Given the description of an element on the screen output the (x, y) to click on. 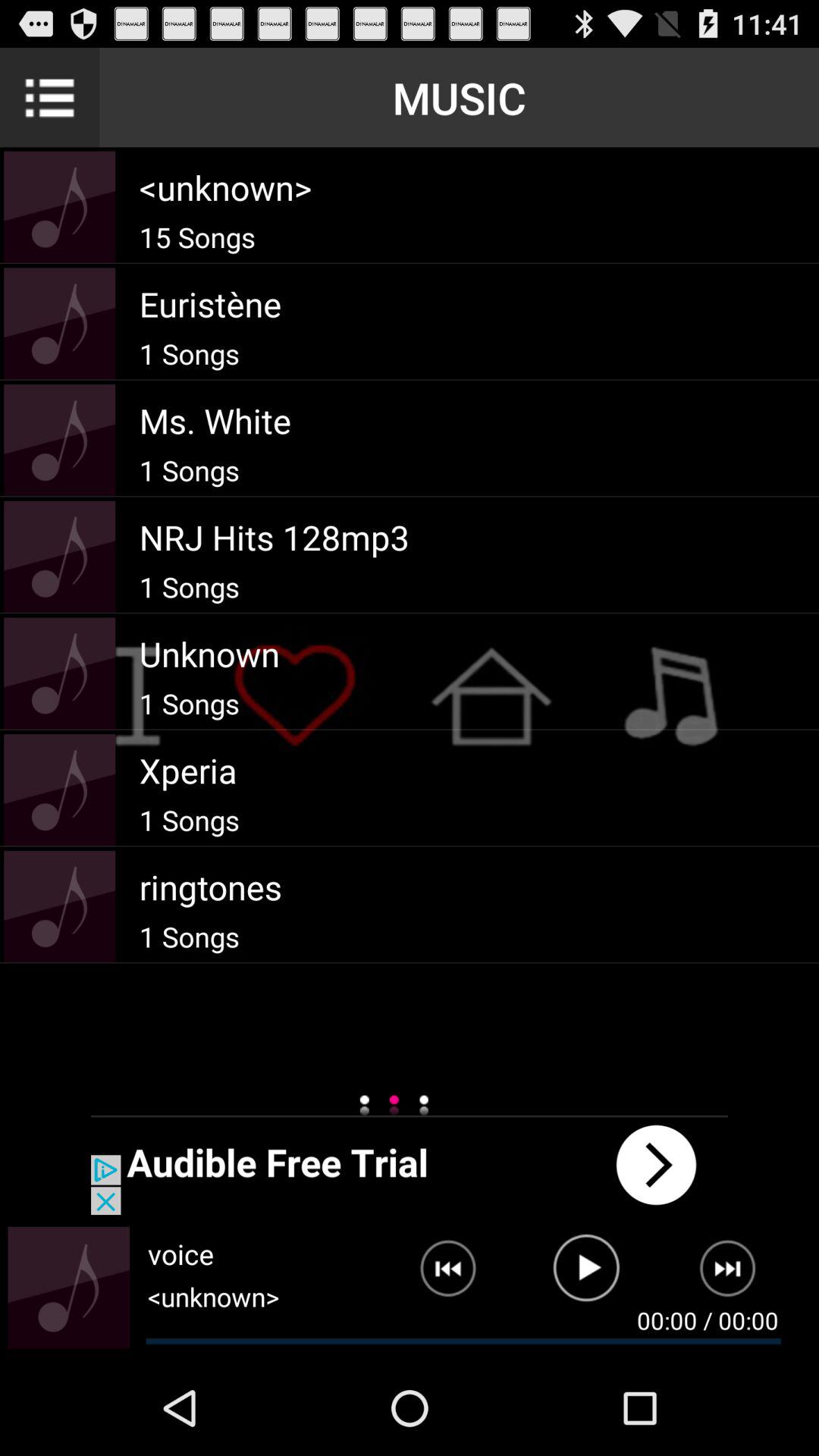
enlarge album art (68, 1287)
